Given the description of an element on the screen output the (x, y) to click on. 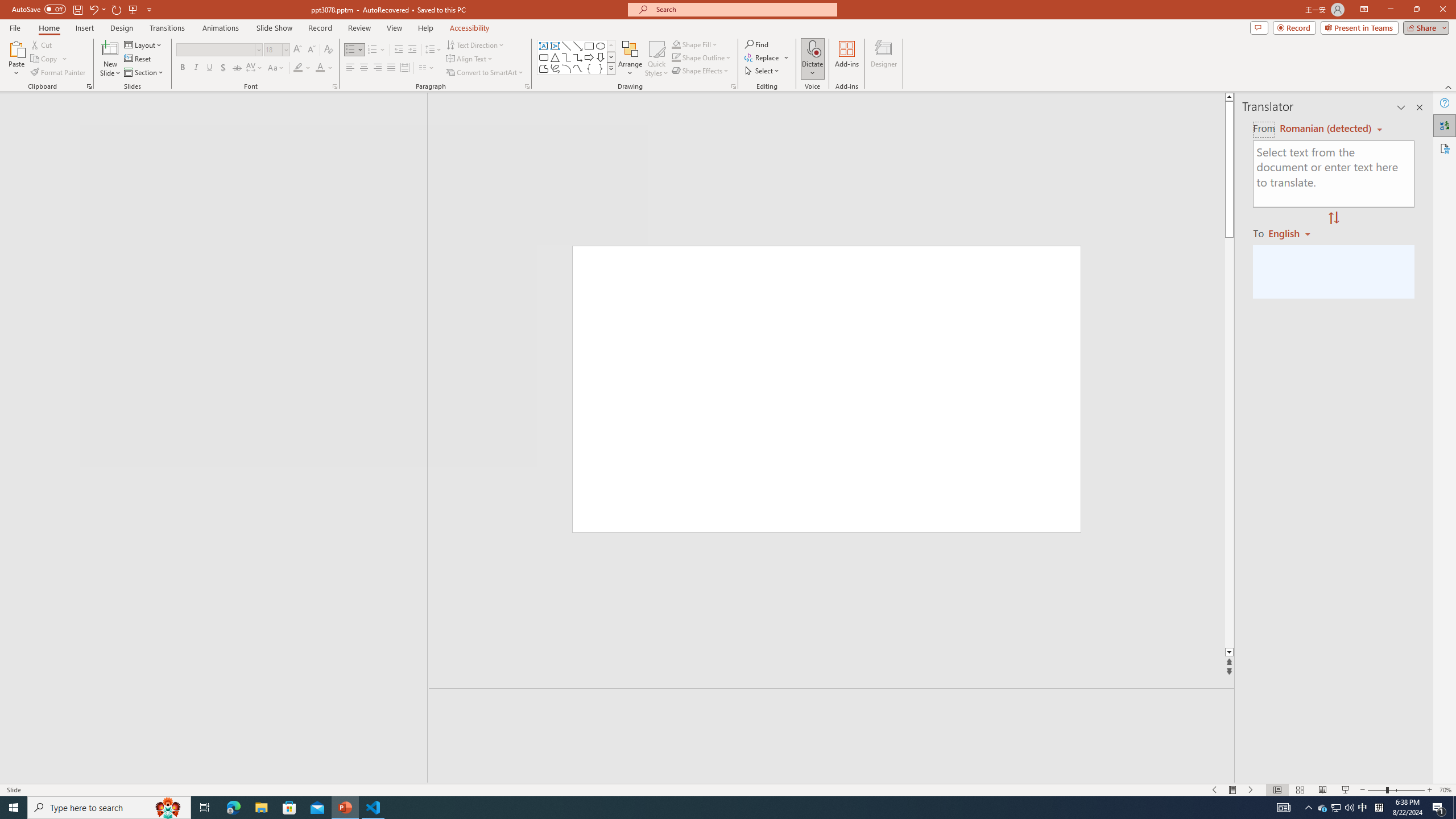
Slide Show Previous On (1214, 790)
